Given the description of an element on the screen output the (x, y) to click on. 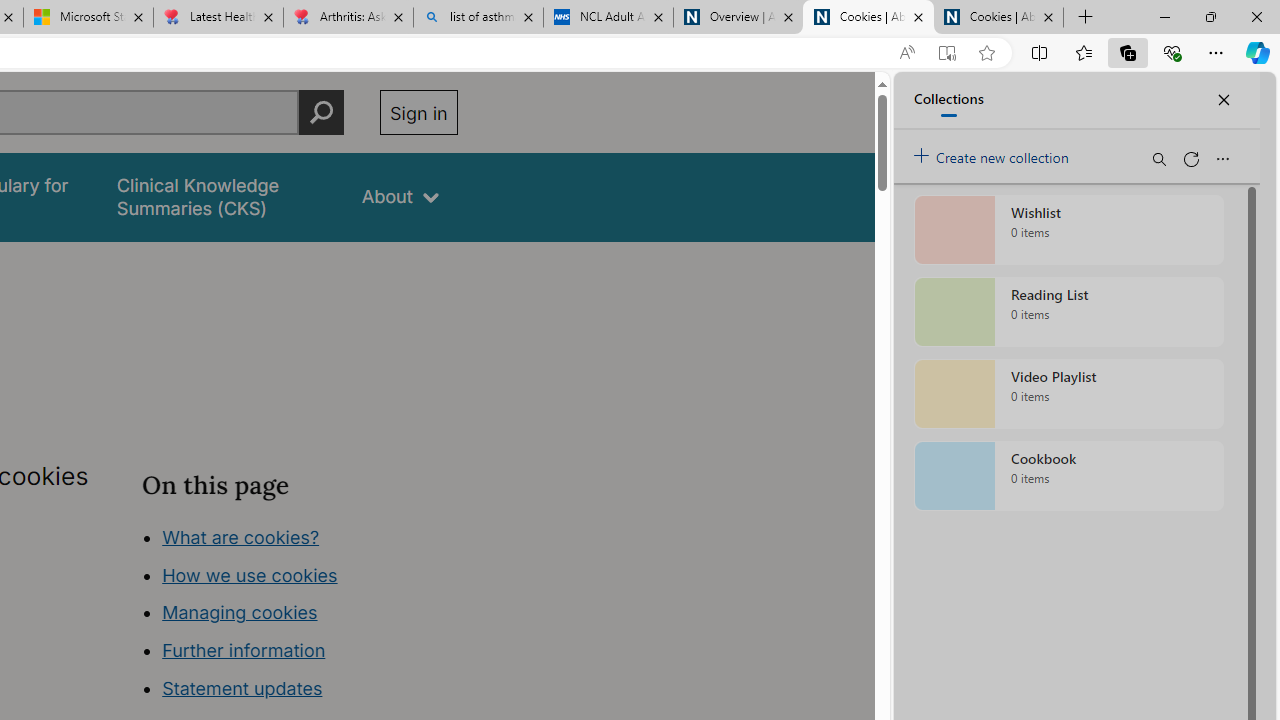
list of asthma inhalers uk - Search (477, 17)
Browser essentials (1171, 52)
Favorites (1083, 52)
